Given the description of an element on the screen output the (x, y) to click on. 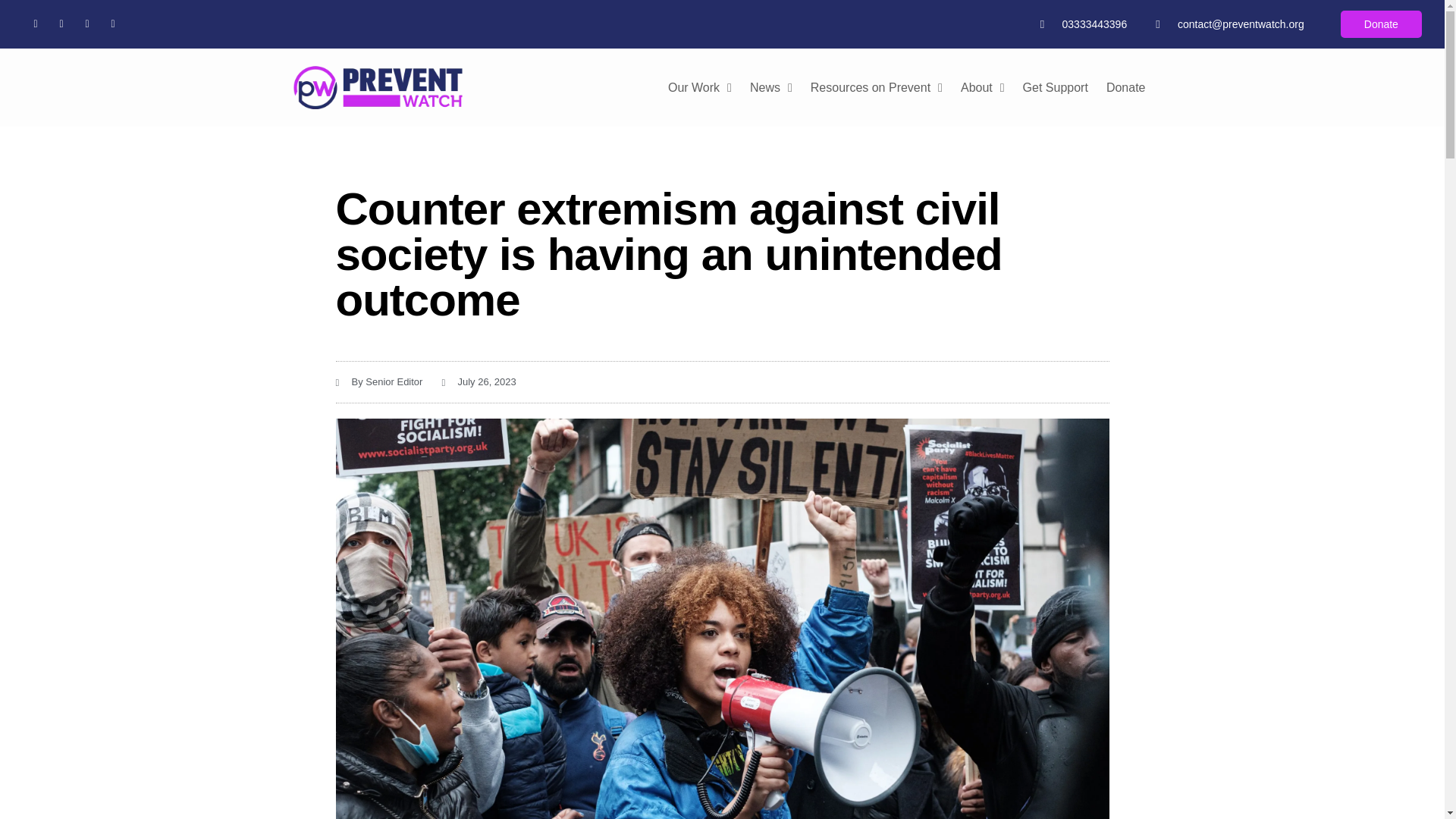
About (982, 87)
03333443396 (1083, 24)
Resources on Prevent (877, 87)
Our Work (700, 87)
News (771, 87)
Donate (1125, 87)
Get Support (1055, 87)
Donate (1381, 23)
